Given the description of an element on the screen output the (x, y) to click on. 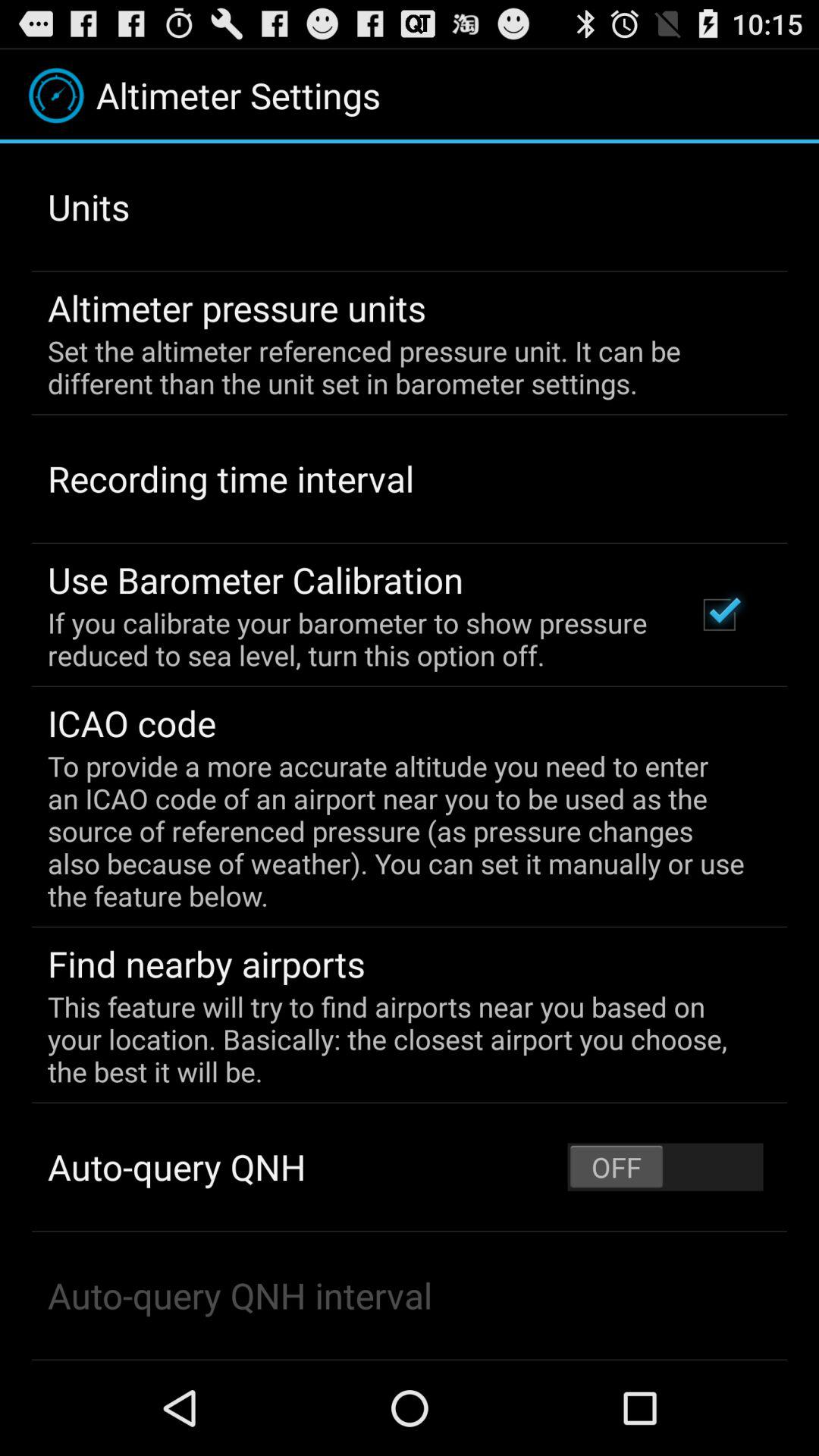
choose the set the altimeter item (399, 367)
